Given the description of an element on the screen output the (x, y) to click on. 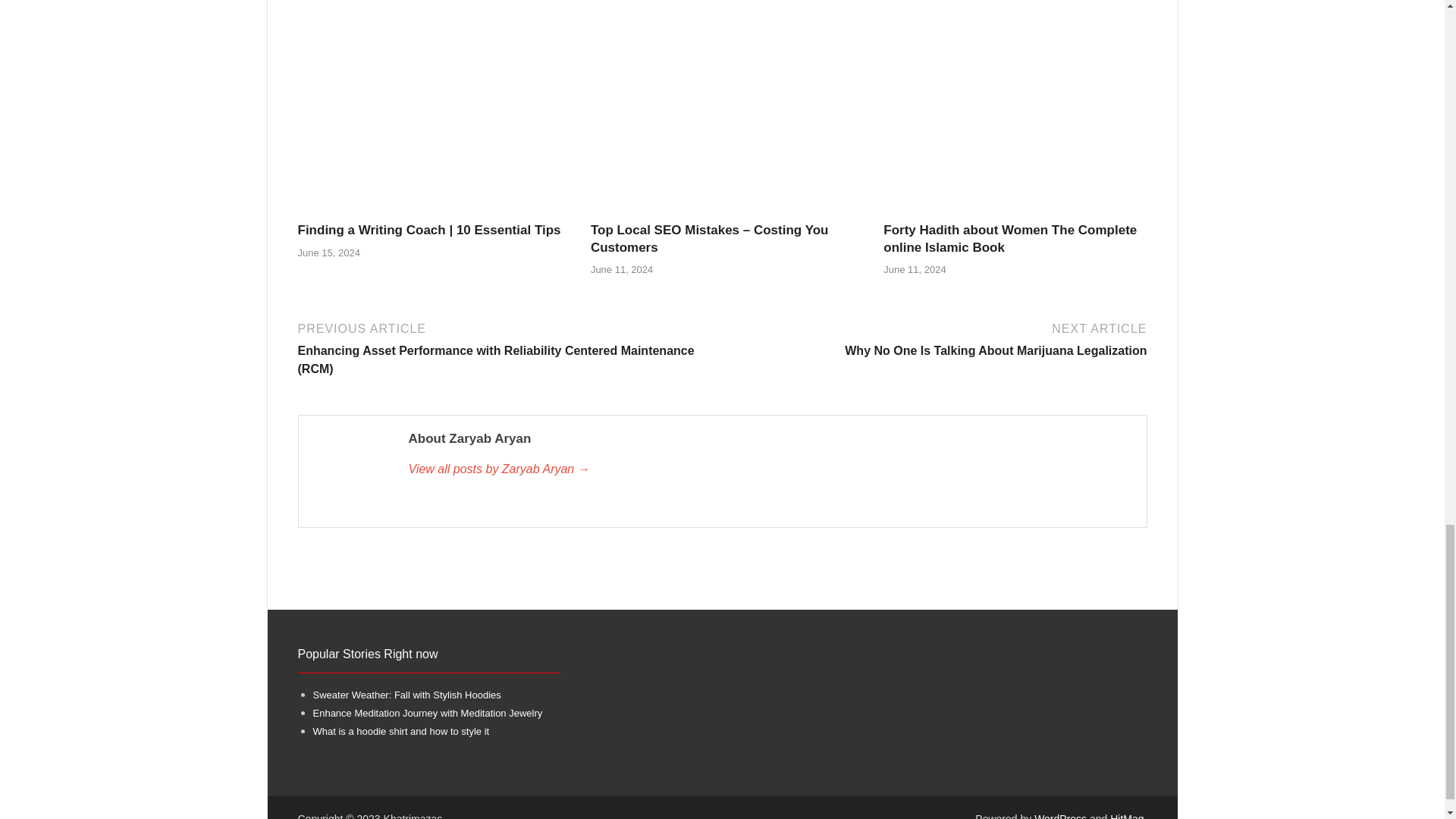
Forty Hadith about Women The Complete online Islamic Book (1015, 212)
What is a hoodie shirt and how to style it (401, 731)
Enhance Meditation Journey with Meditation Jewelry (427, 713)
Sweater Weather: Fall with Stylish Hoodies (406, 695)
Zaryab Aryan (769, 469)
Forty Hadith about Women The Complete online Islamic Book (1010, 237)
Forty Hadith about Women The Complete online Islamic Book (1010, 237)
